Given the description of an element on the screen output the (x, y) to click on. 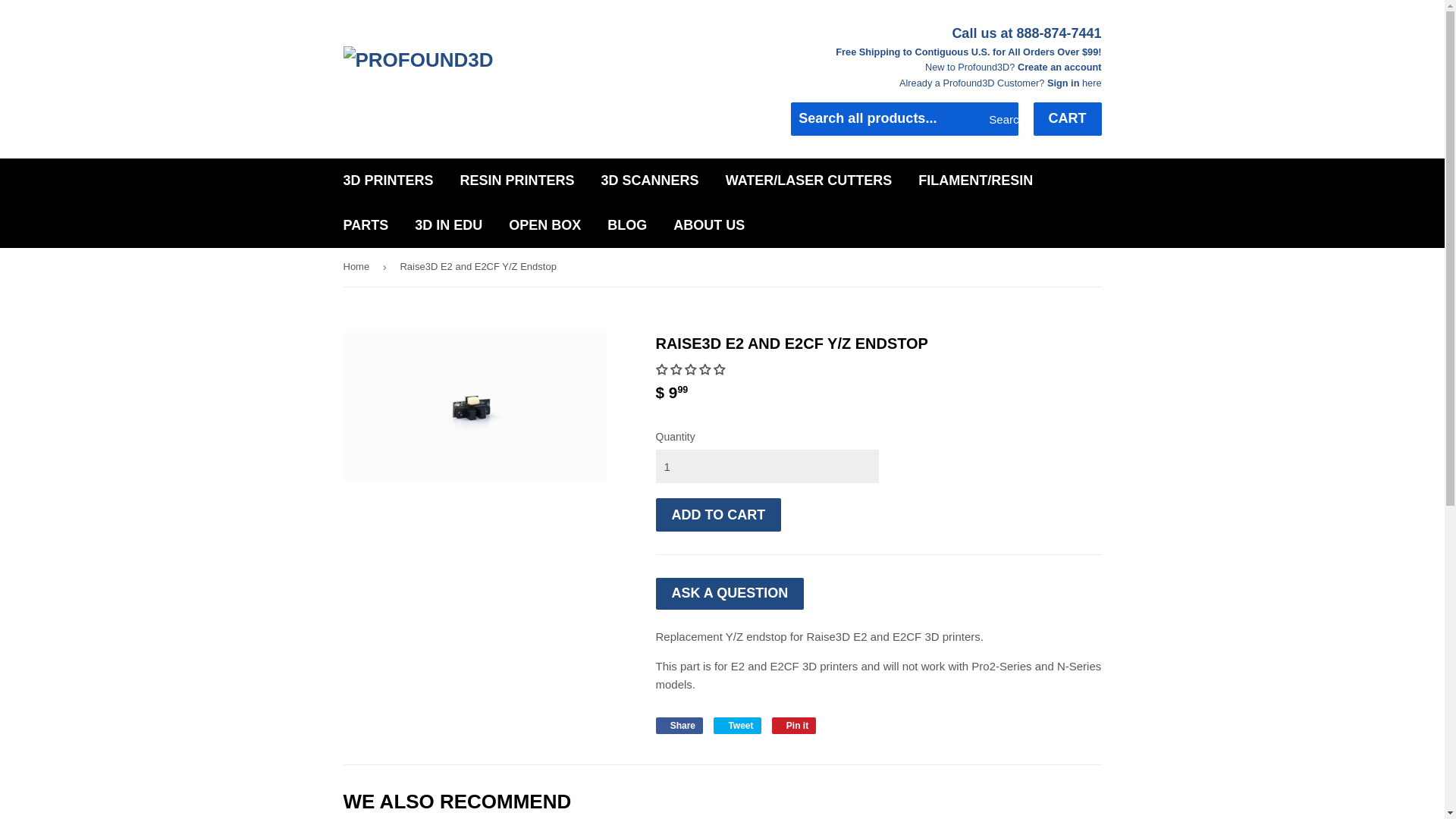
Create an account (1059, 66)
Pin on Pinterest (793, 725)
1 (766, 466)
Sign in (1063, 82)
Share on Facebook (679, 725)
Tweet on Twitter (736, 725)
Search (1000, 119)
CART (1066, 118)
